Given the description of an element on the screen output the (x, y) to click on. 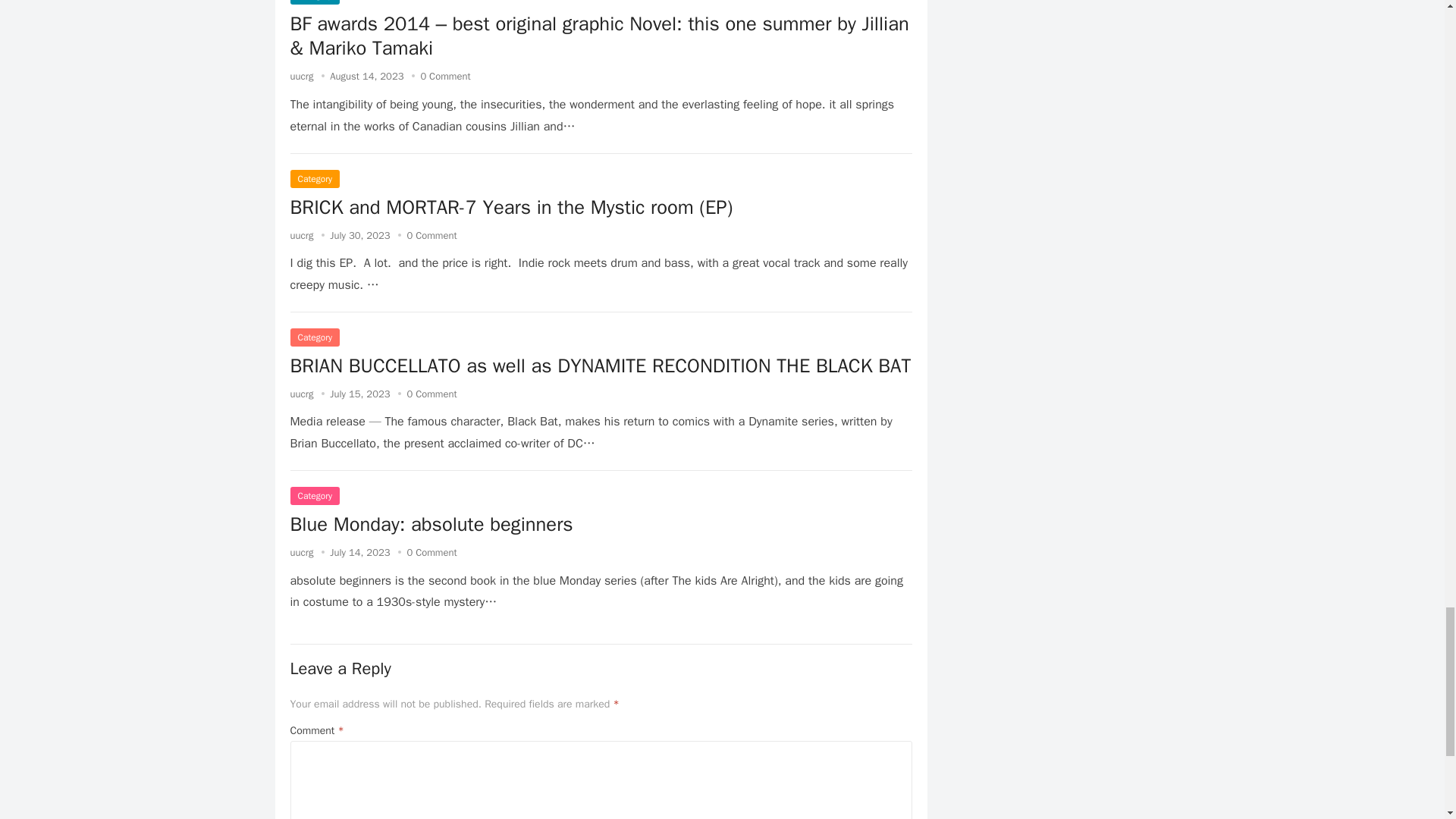
uucrg (301, 75)
Blue Monday: absolute beginners (430, 524)
uucrg (301, 235)
Posts by uucrg (301, 393)
Category (314, 495)
0 Comment (431, 393)
Category (314, 178)
uucrg (301, 393)
uucrg (301, 552)
